Given the description of an element on the screen output the (x, y) to click on. 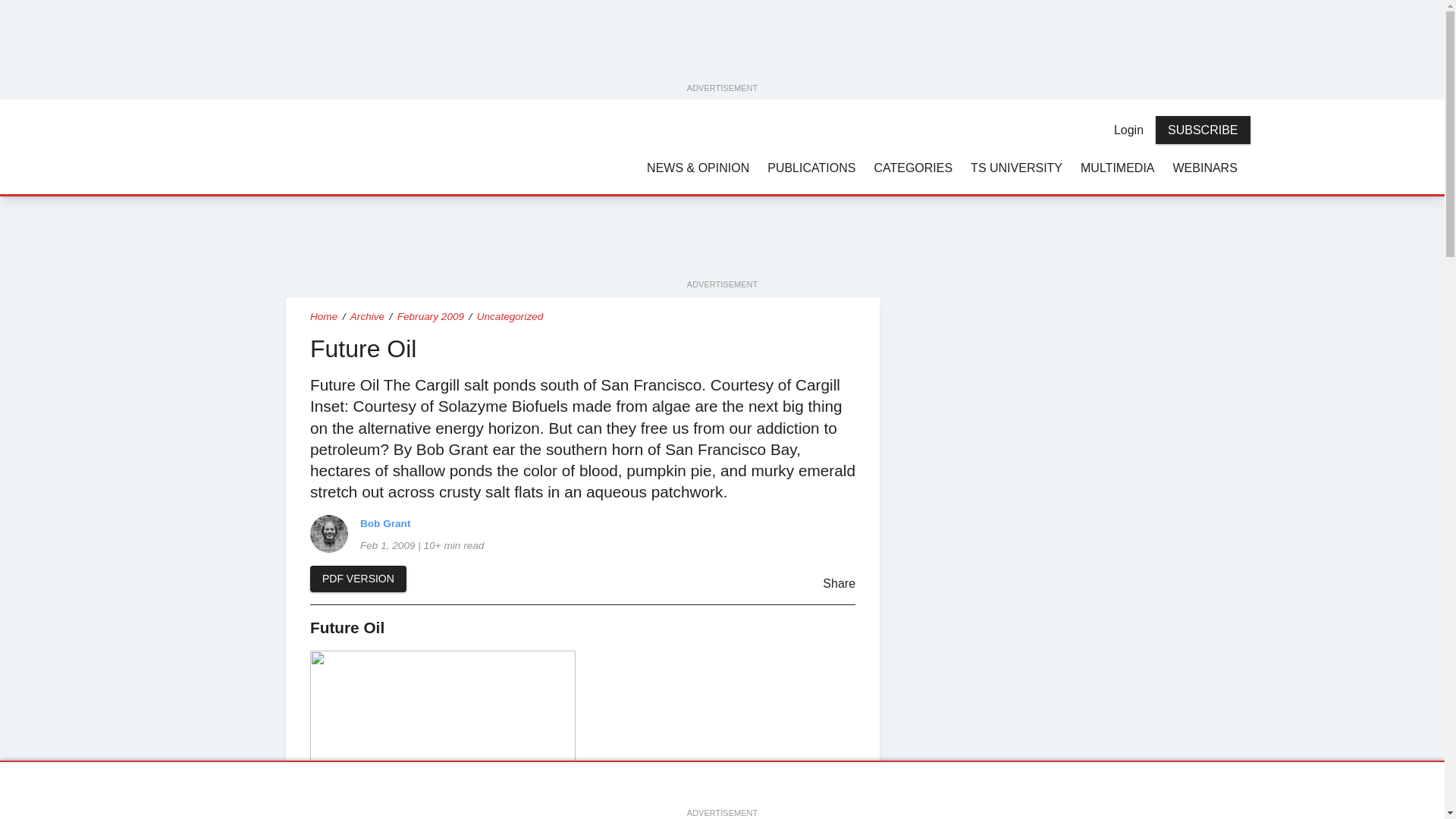
Bob Grant (328, 533)
Login (1127, 130)
SUBSCRIBE (1202, 130)
CATEGORIES (912, 167)
TS UNIVERSITY (1015, 167)
